Given the description of an element on the screen output the (x, y) to click on. 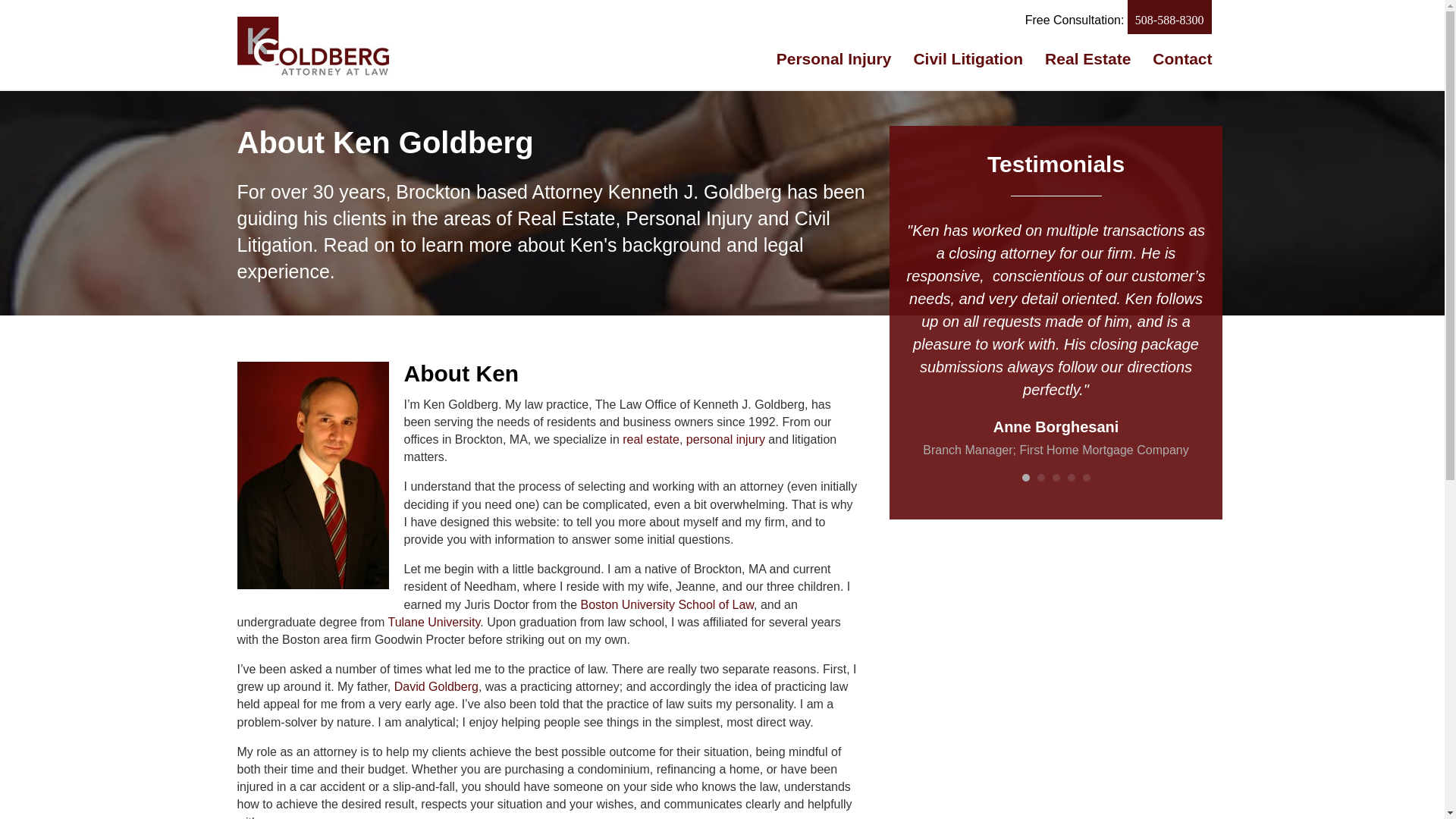
Contact (1182, 58)
David Goldberg (436, 686)
kglegal-small-284x111 (311, 46)
Boston University School of Law (666, 603)
real estate (651, 439)
1 (1025, 477)
5 (1086, 477)
Personal Injury (833, 58)
2 (1040, 477)
508-588-8300 (1168, 17)
